Given the description of an element on the screen output the (x, y) to click on. 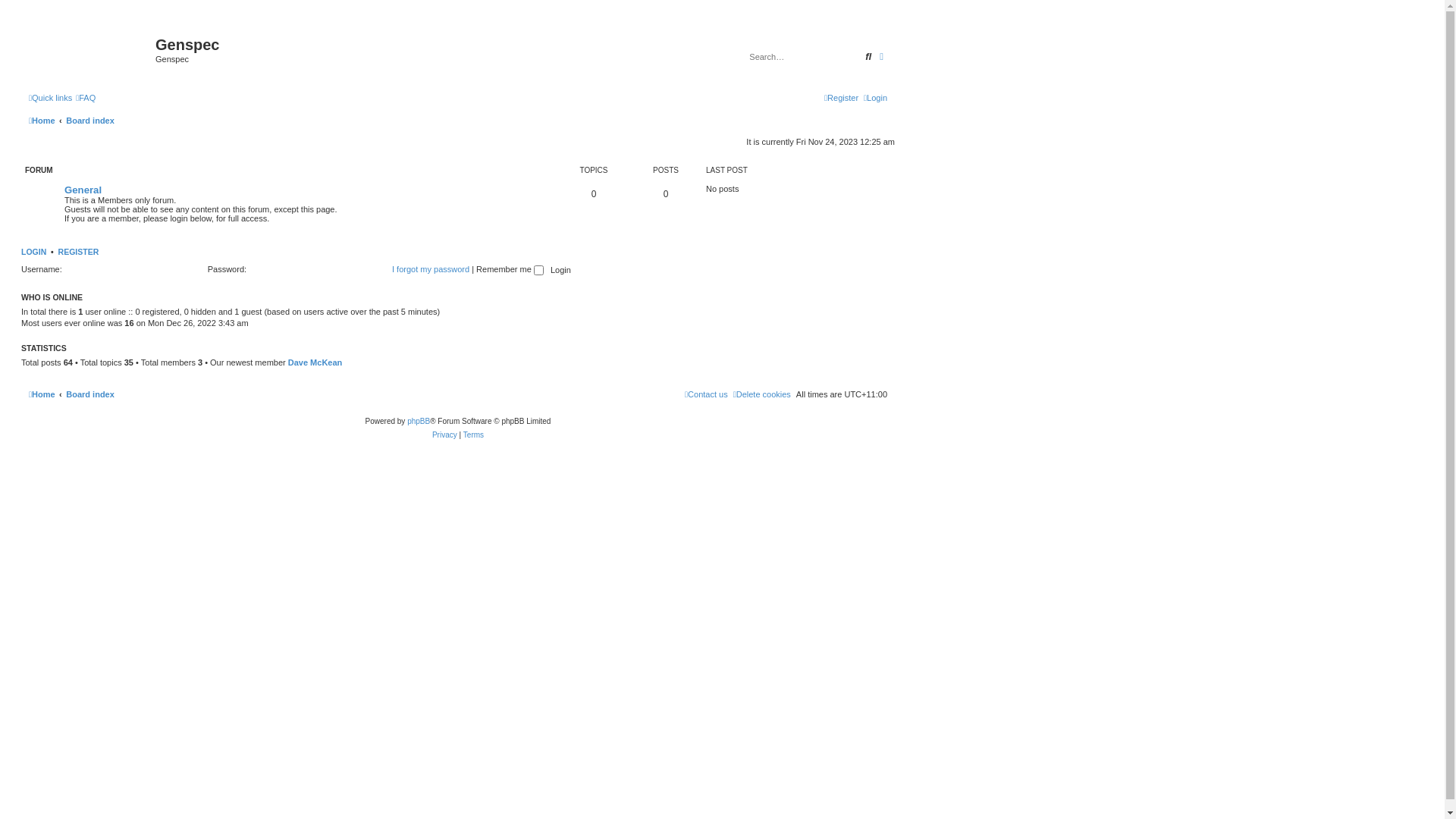
Username Element type: hover (132, 269)
Terms Element type: text (473, 435)
Login Element type: text (875, 97)
I forgot my password Element type: text (430, 268)
Password Element type: hover (316, 269)
Quick links Element type: text (50, 97)
FAQ Element type: text (85, 97)
Board index Element type: text (89, 394)
Privacy Element type: text (444, 435)
Home Element type: text (41, 394)
Login Element type: text (560, 270)
phpBB Element type: text (418, 421)
Dave McKean Element type: text (315, 362)
Contact us Element type: text (706, 394)
Board index Element type: text (89, 120)
LOGIN Element type: text (33, 251)
Home Element type: text (41, 120)
General Element type: text (82, 189)
Search Element type: text (867, 56)
Home Element type: hover (90, 49)
Search for keywords Element type: hover (803, 56)
Register Element type: text (841, 97)
Advanced search Element type: text (881, 56)
REGISTER Element type: text (78, 251)
Delete cookies Element type: text (761, 394)
